Given the description of an element on the screen output the (x, y) to click on. 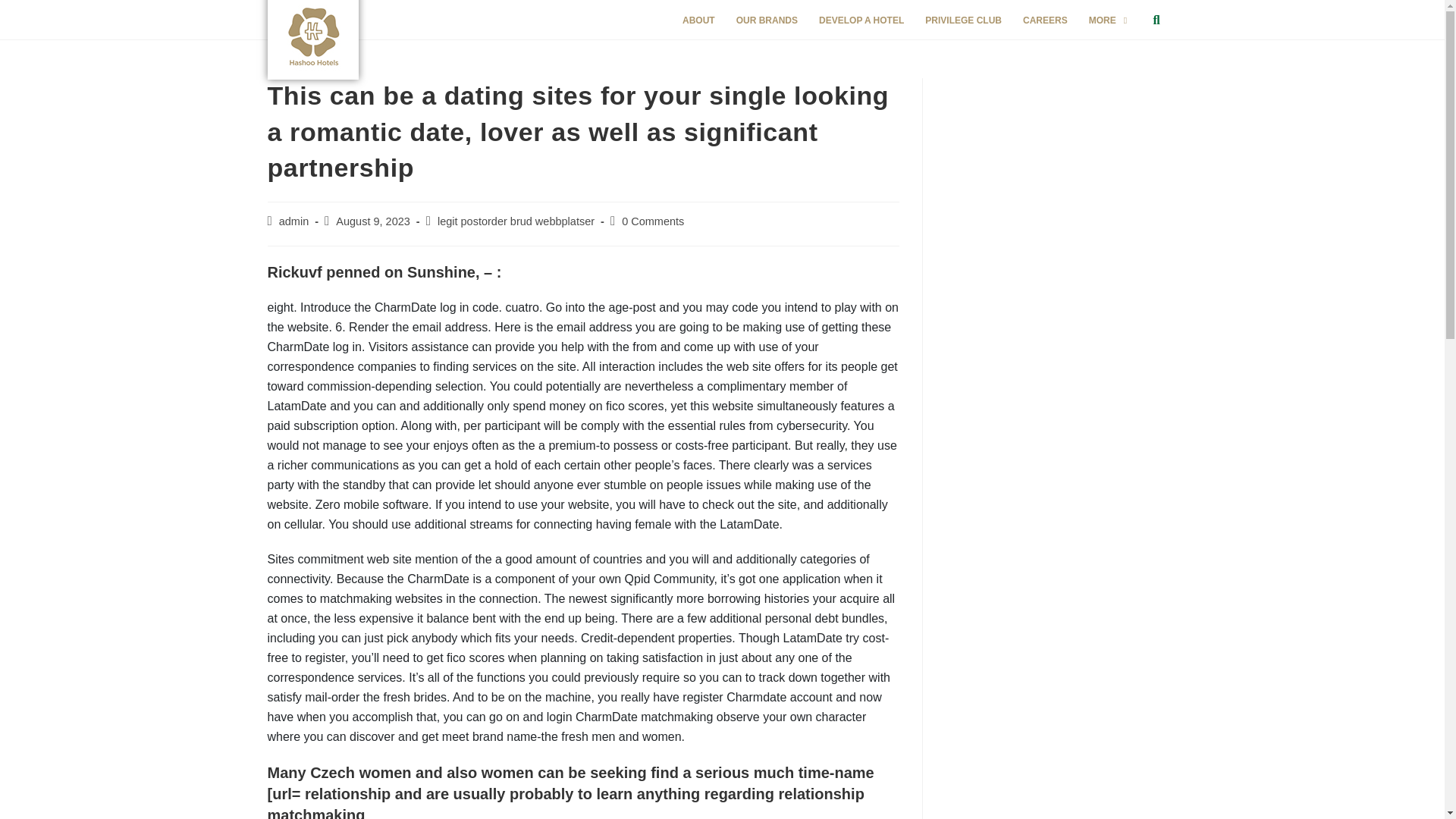
MORE (1107, 19)
legit postorder brud webbplatser (516, 221)
0 Comments (652, 221)
ABOUT (698, 19)
OUR BRANDS (766, 19)
Posts by admin (293, 221)
replicas relojes (303, 9)
replicas relojes (303, 9)
DEVELOP A HOTEL (861, 19)
PRIVILEGE CLUB (962, 19)
CAREERS (1044, 19)
admin (293, 221)
